Given the description of an element on the screen output the (x, y) to click on. 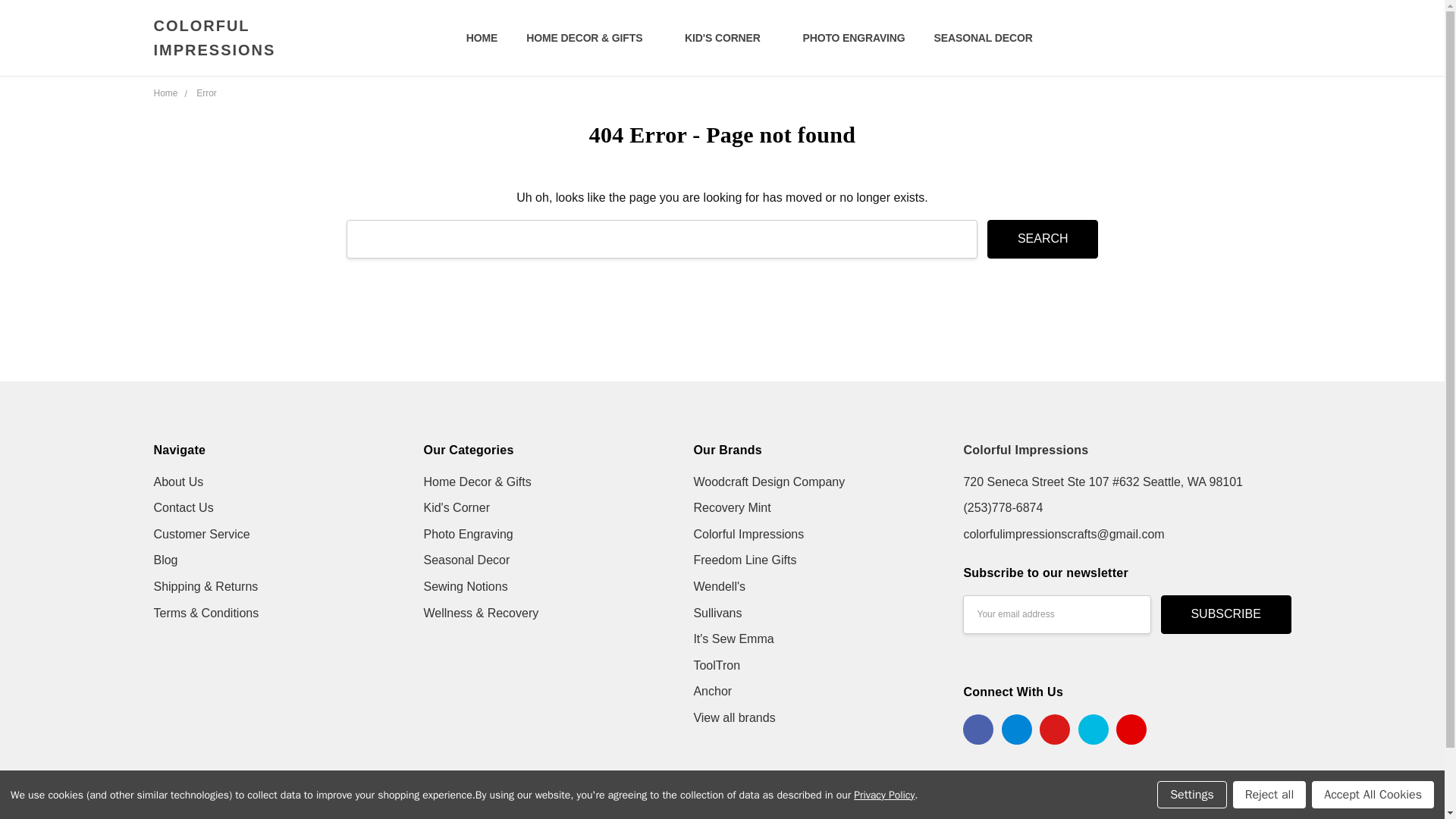
COLORFUL IMPRESSIONS (263, 86)
ABOUT US (493, 38)
CUSTOMER SERVICE (520, 38)
SEASONAL DECOR (990, 38)
PHOTO ENGRAVING (854, 38)
KID'S CORNER (728, 38)
Search (1042, 239)
CONTACT US (499, 38)
Subscribe (1225, 614)
